Given the description of an element on the screen output the (x, y) to click on. 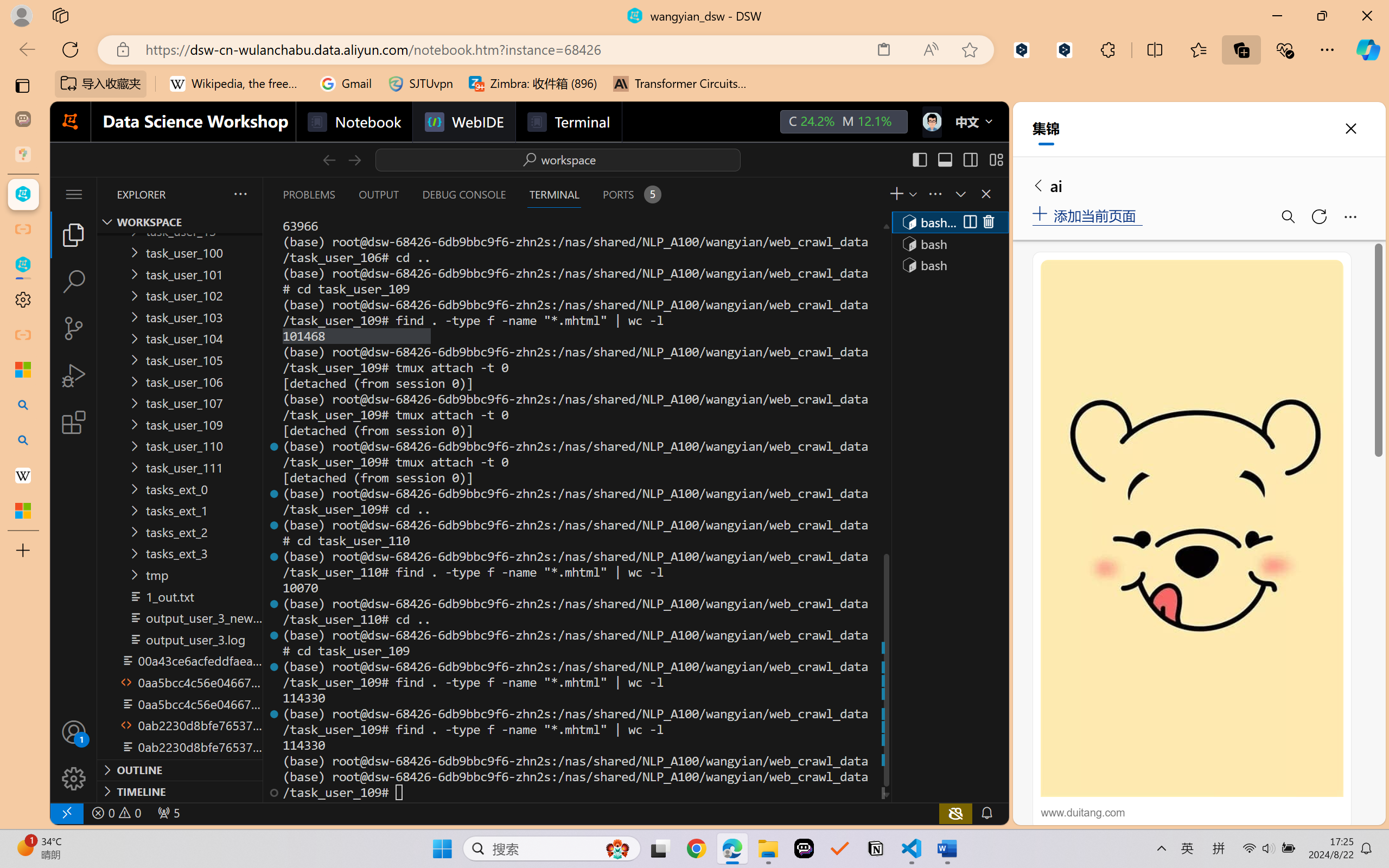
Class: menubar compact overflow-menu-only (73, 194)
icon (930, 119)
Toggle Panel (Ctrl+J) (944, 159)
Terminal (568, 121)
WebIDE (463, 121)
